Given the description of an element on the screen output the (x, y) to click on. 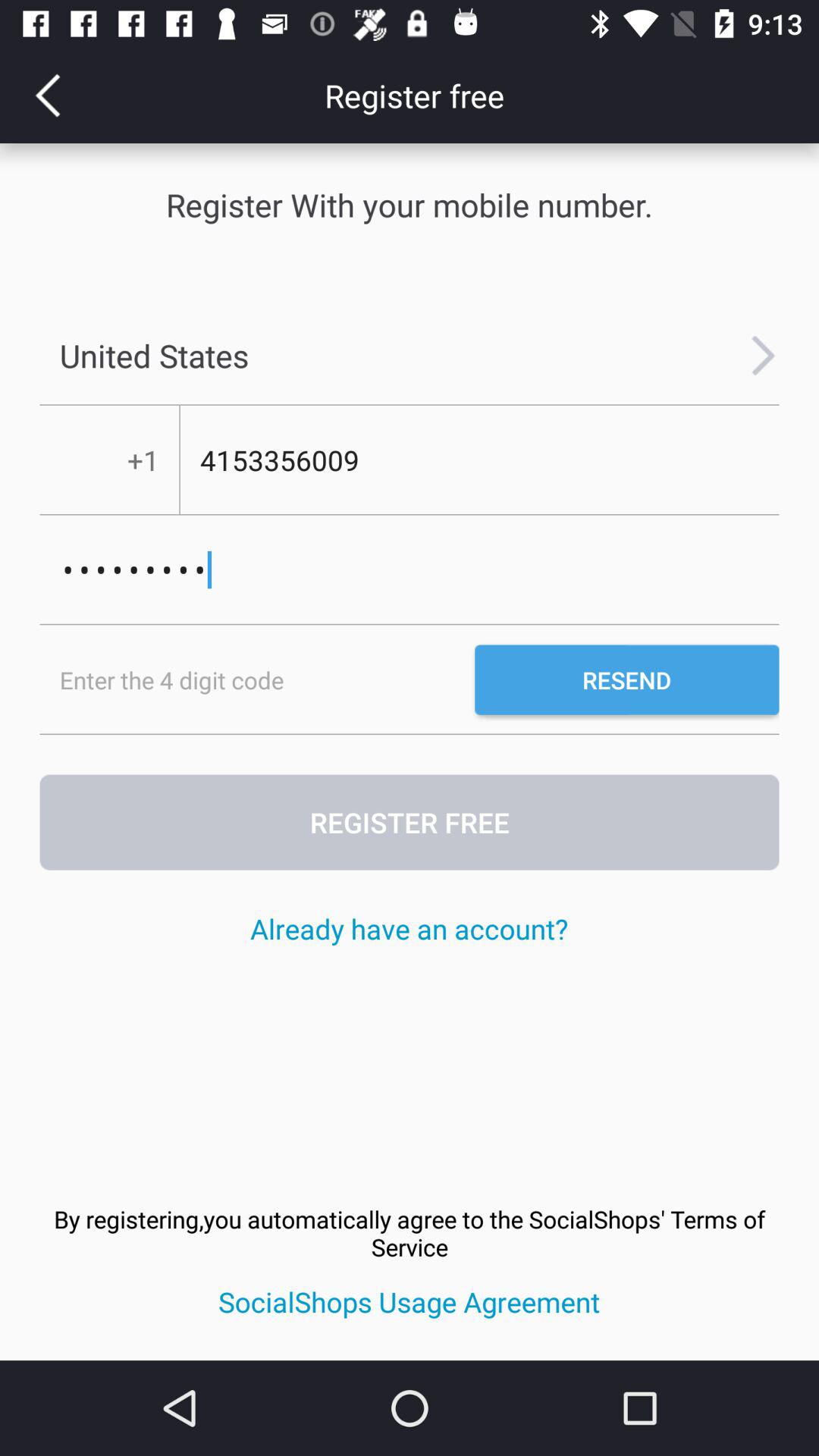
open item next to the resend icon (256, 679)
